Given the description of an element on the screen output the (x, y) to click on. 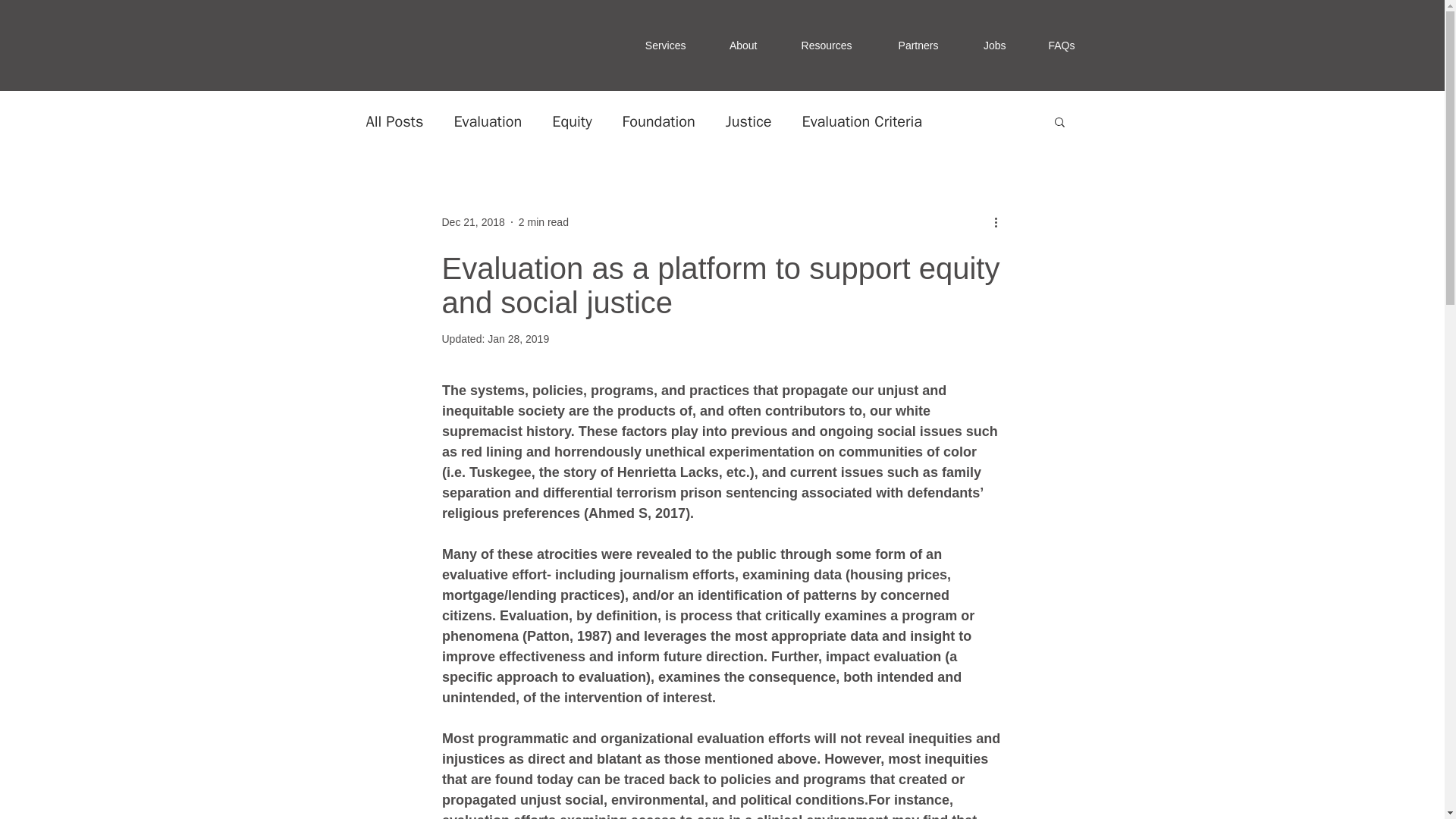
Equity (571, 120)
Evaluation (486, 120)
2 min read (543, 221)
Evaluation Criteria (862, 120)
Resources (823, 45)
All Posts (394, 120)
Jobs (990, 45)
FAQs (1059, 45)
Jan 28, 2019 (517, 338)
Partners (913, 45)
Services (661, 45)
Foundation (659, 120)
Dec 21, 2018 (472, 221)
Justice (748, 120)
About (740, 45)
